Given the description of an element on the screen output the (x, y) to click on. 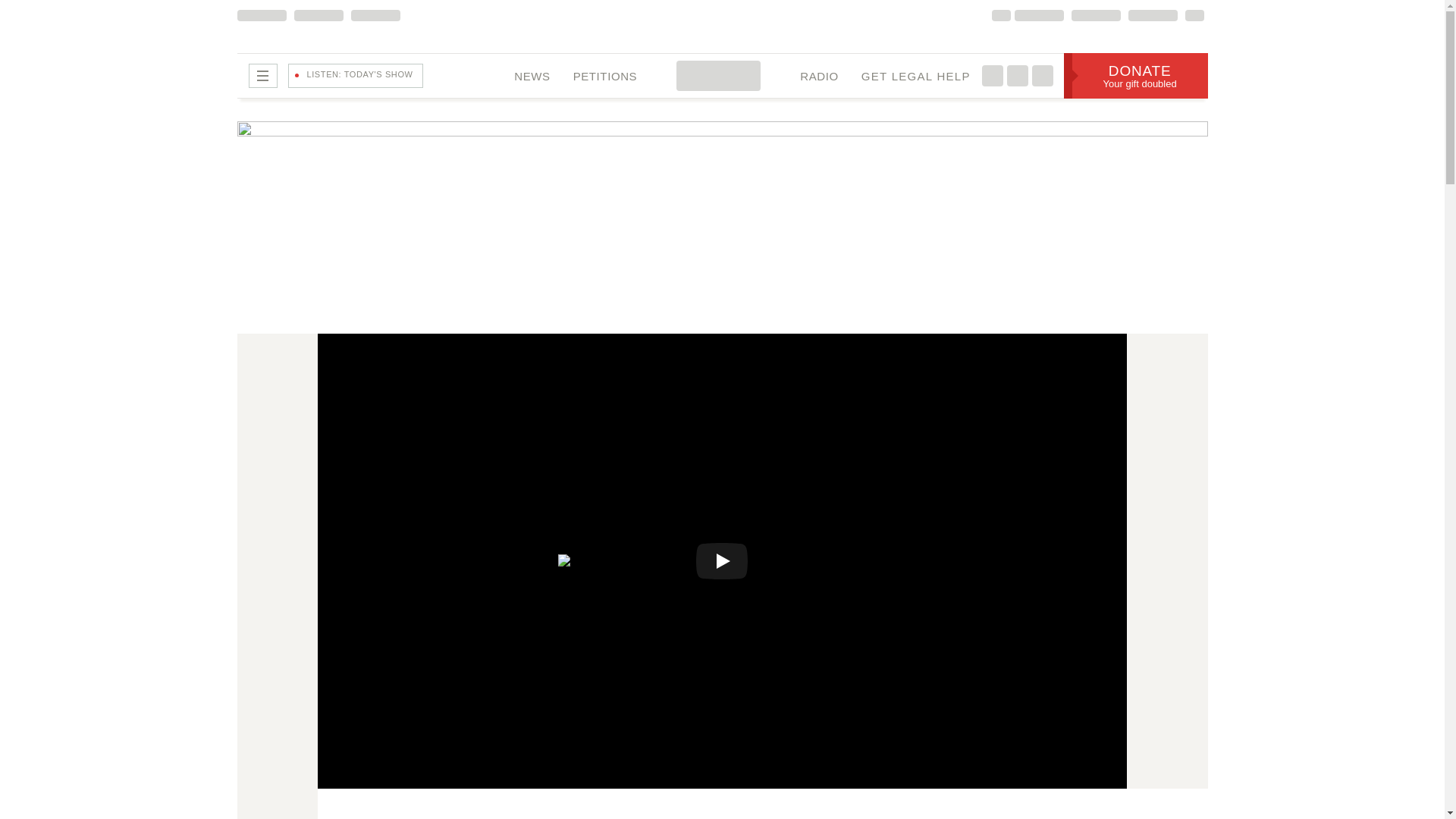
LISTEN: TODAY'S SHOW (355, 75)
PETITIONS (1136, 75)
View in Media Player (605, 75)
NEWS (331, 591)
GET LEGAL HELP (531, 75)
RADIO (915, 75)
